Given the description of an element on the screen output the (x, y) to click on. 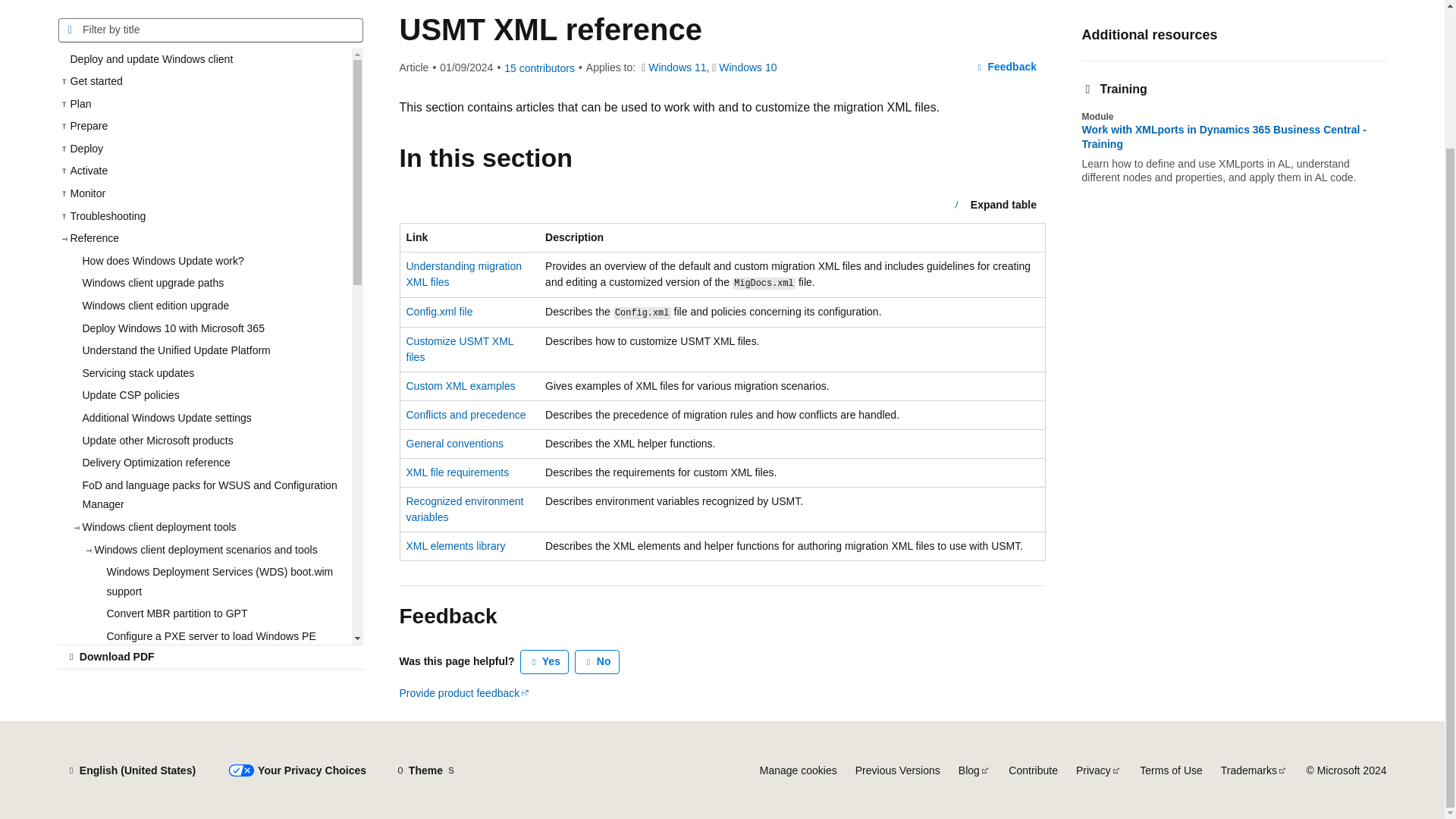
This article is not helpful (597, 662)
This article is helpful (544, 662)
Edit This Document (1004, 2)
More actions (1031, 2)
Theme (425, 770)
View all contributors (539, 68)
